Given the description of an element on the screen output the (x, y) to click on. 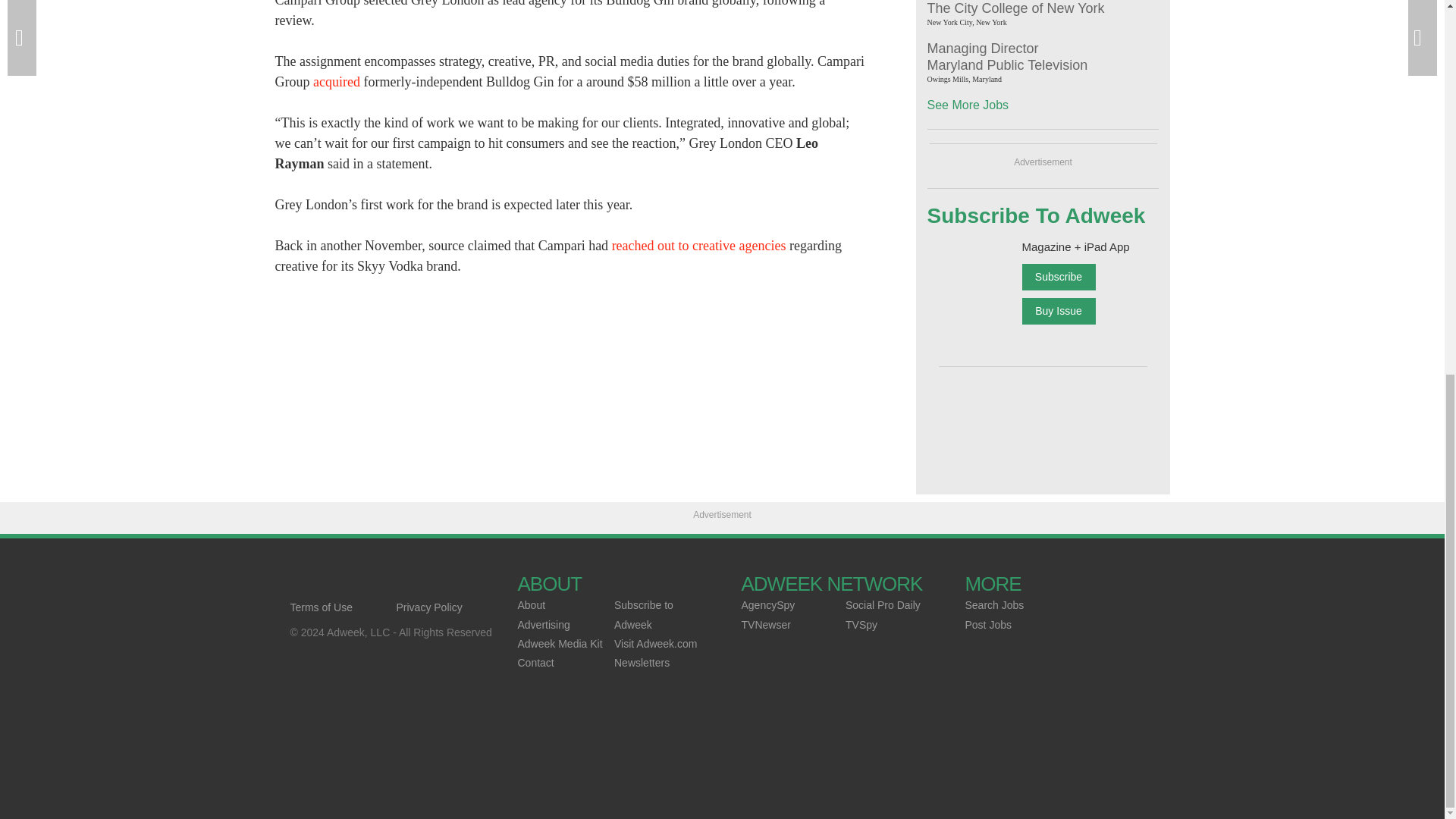
Covering the ad agency world (395, 583)
